Given the description of an element on the screen output the (x, y) to click on. 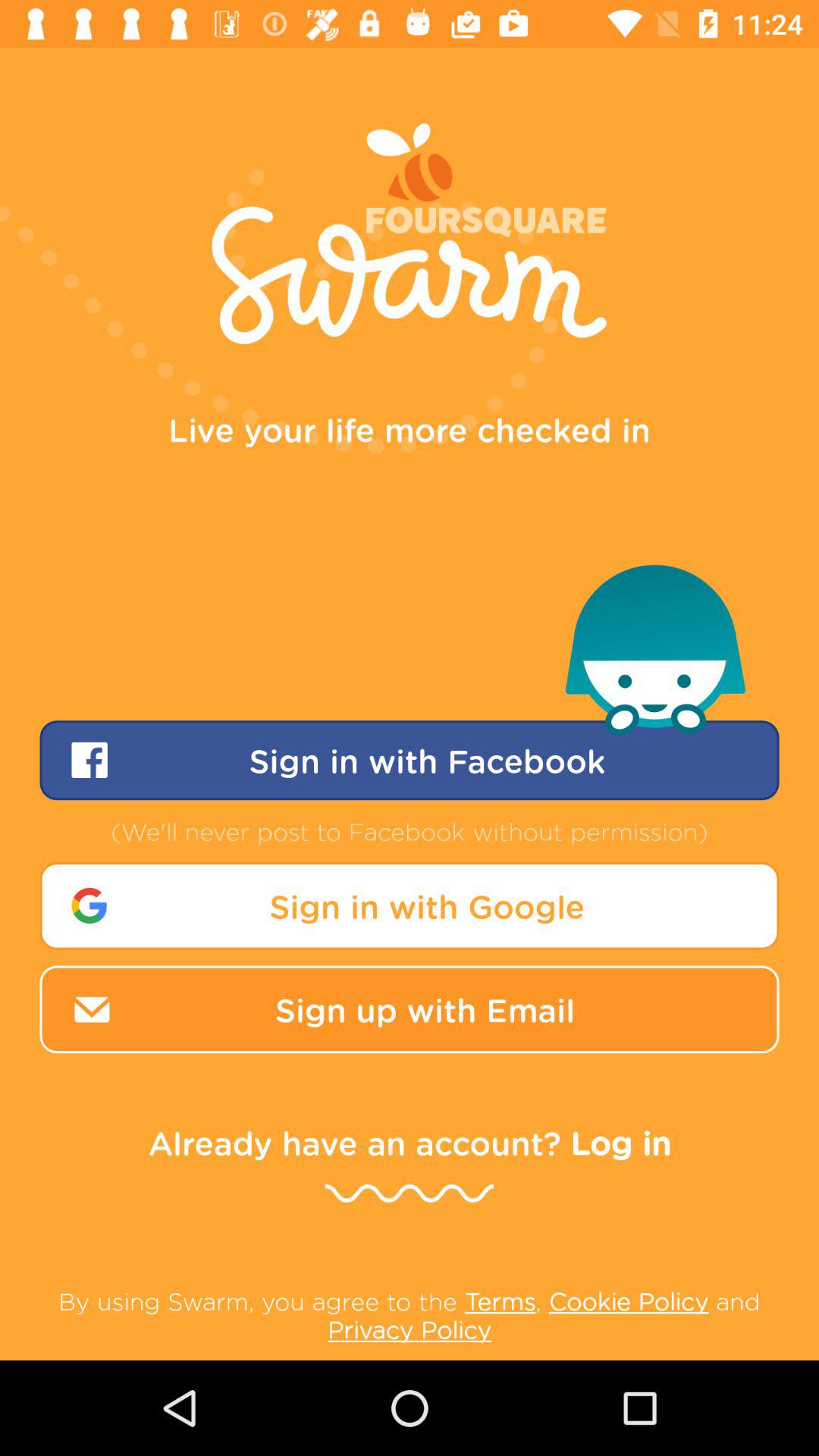
choose already have an icon (409, 1142)
